Given the description of an element on the screen output the (x, y) to click on. 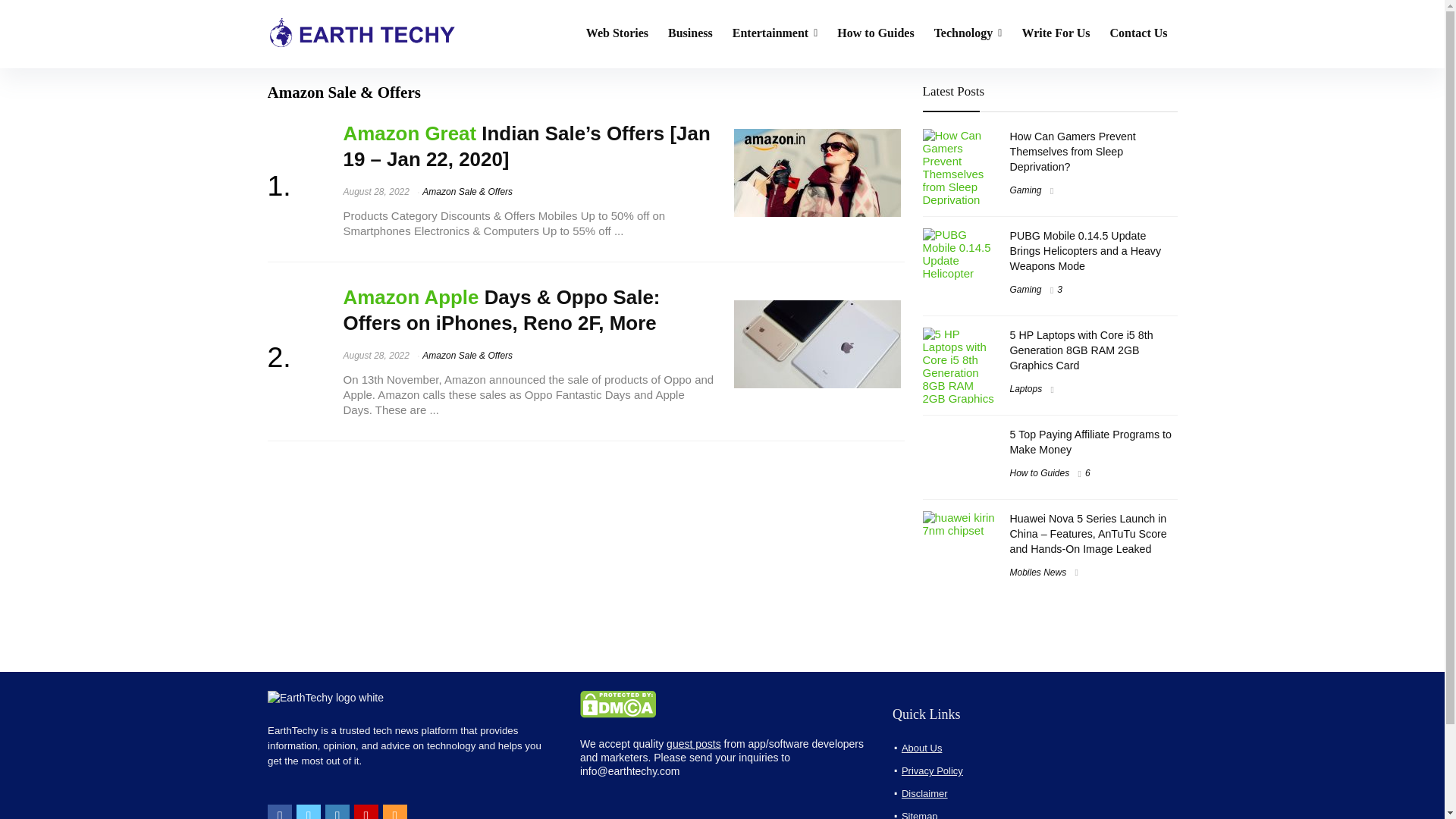
Write For Us (1055, 33)
How Can Gamers Prevent Themselves from Sleep Deprivation? (1072, 151)
Technology (967, 33)
DMCA.com Protection Status (617, 697)
How to Guides (875, 33)
Entertainment (775, 33)
Web Stories (617, 33)
5 Top Paying Affiliate Programs to Make Money (1091, 441)
Gaming (1026, 289)
